Given the description of an element on the screen output the (x, y) to click on. 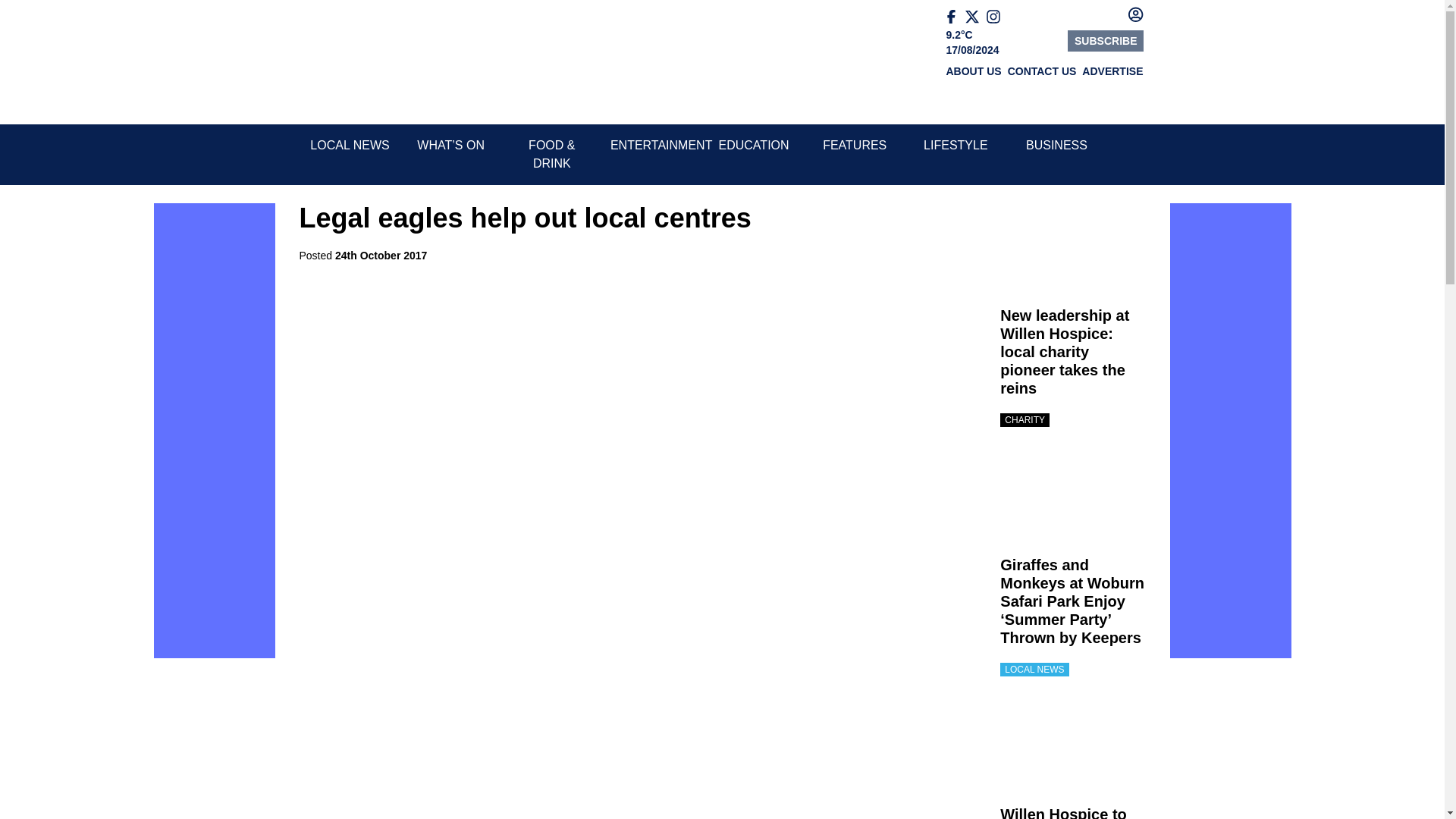
LIFESTYLE (955, 144)
BUSINESS (1056, 144)
SUBSCRIBE (1104, 40)
EDUCATION (754, 144)
FEATURES (854, 144)
ABOUT US (973, 70)
Follow us on X (974, 16)
Follow us on Instagram (996, 16)
Follow us on Facebook (954, 16)
Home (354, 62)
